Given the description of an element on the screen output the (x, y) to click on. 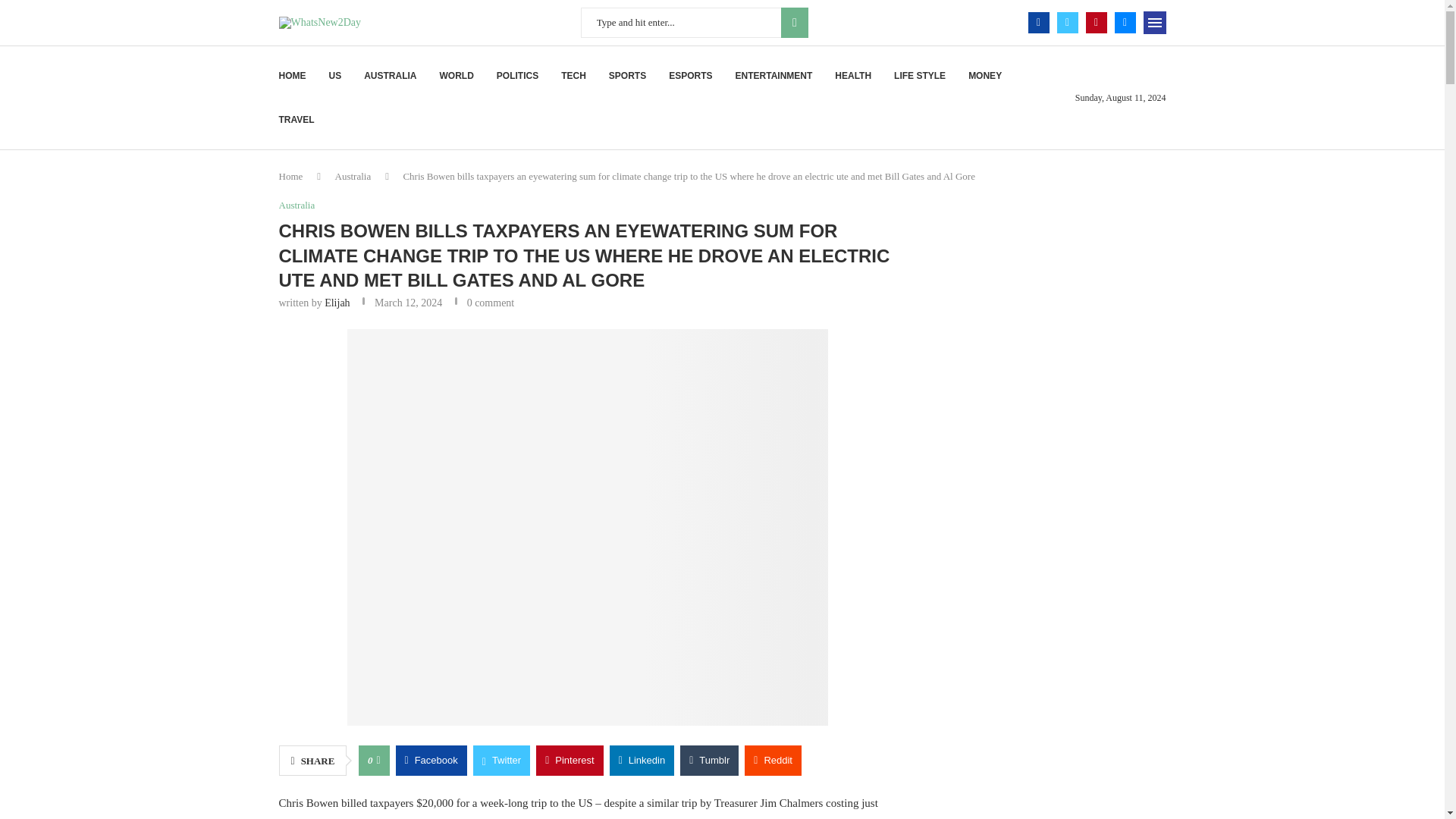
ESPORTS (689, 75)
POLITICS (517, 75)
LIFE STYLE (918, 75)
ENTERTAINMENT (773, 75)
SEARCH (794, 22)
AUSTRALIA (390, 75)
